Given the description of an element on the screen output the (x, y) to click on. 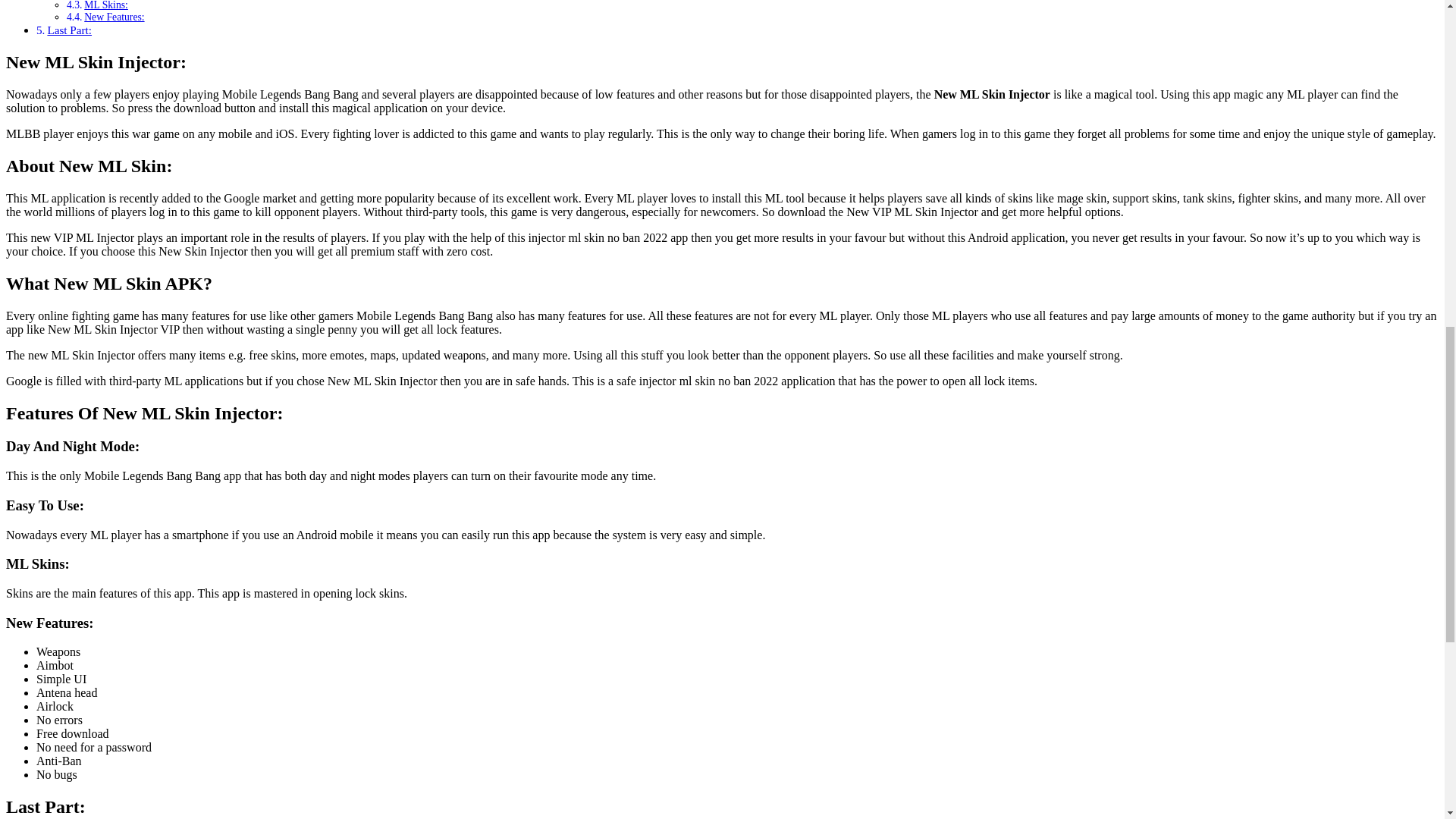
New Features: (114, 16)
ML Skins: (106, 5)
Last Part: (68, 29)
Last Part: (68, 29)
New Features: (114, 16)
ML Skins: (106, 5)
